Given the description of an element on the screen output the (x, y) to click on. 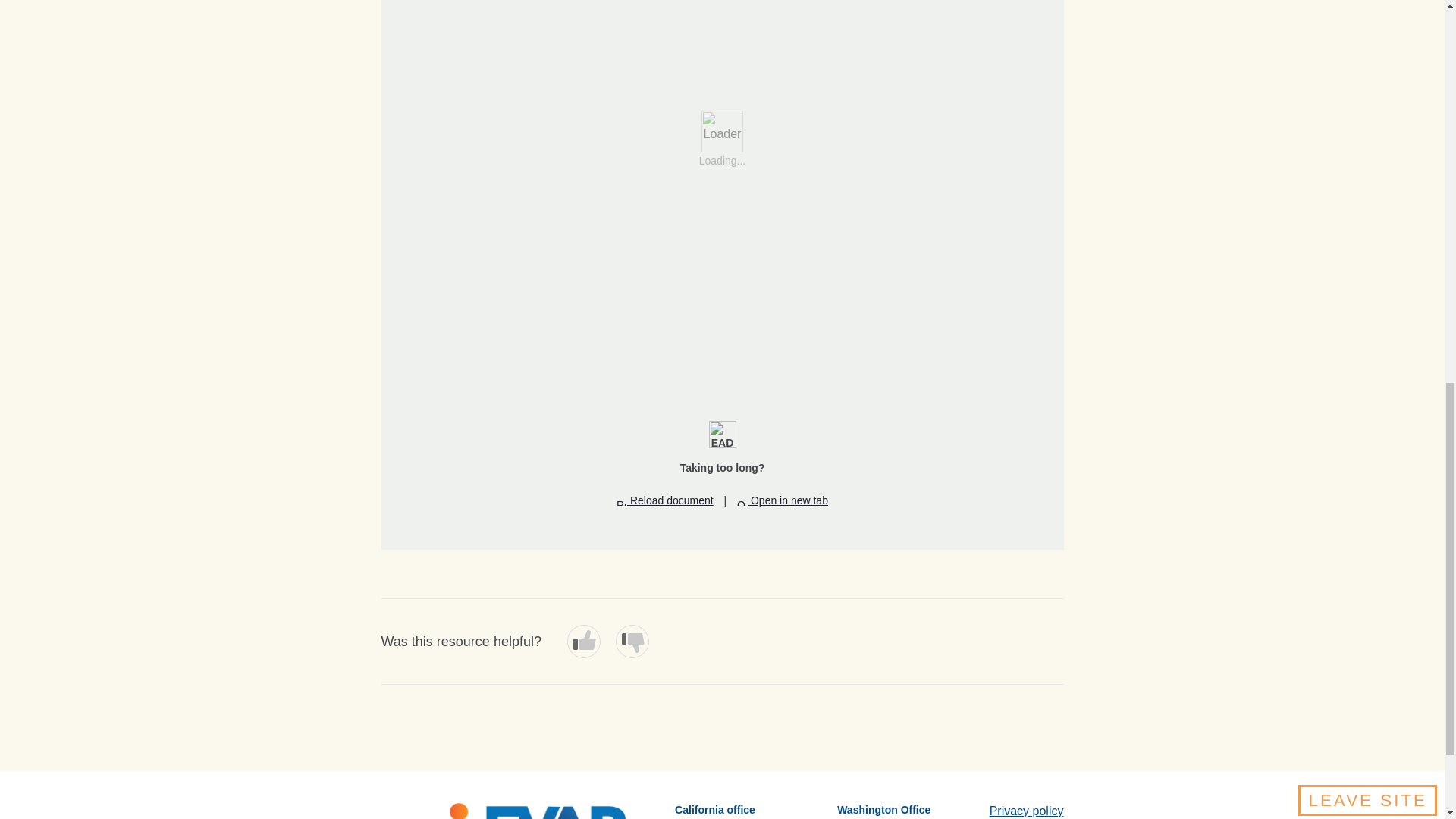
Open in new tab (782, 500)
Privacy policy (1027, 810)
